Given the description of an element on the screen output the (x, y) to click on. 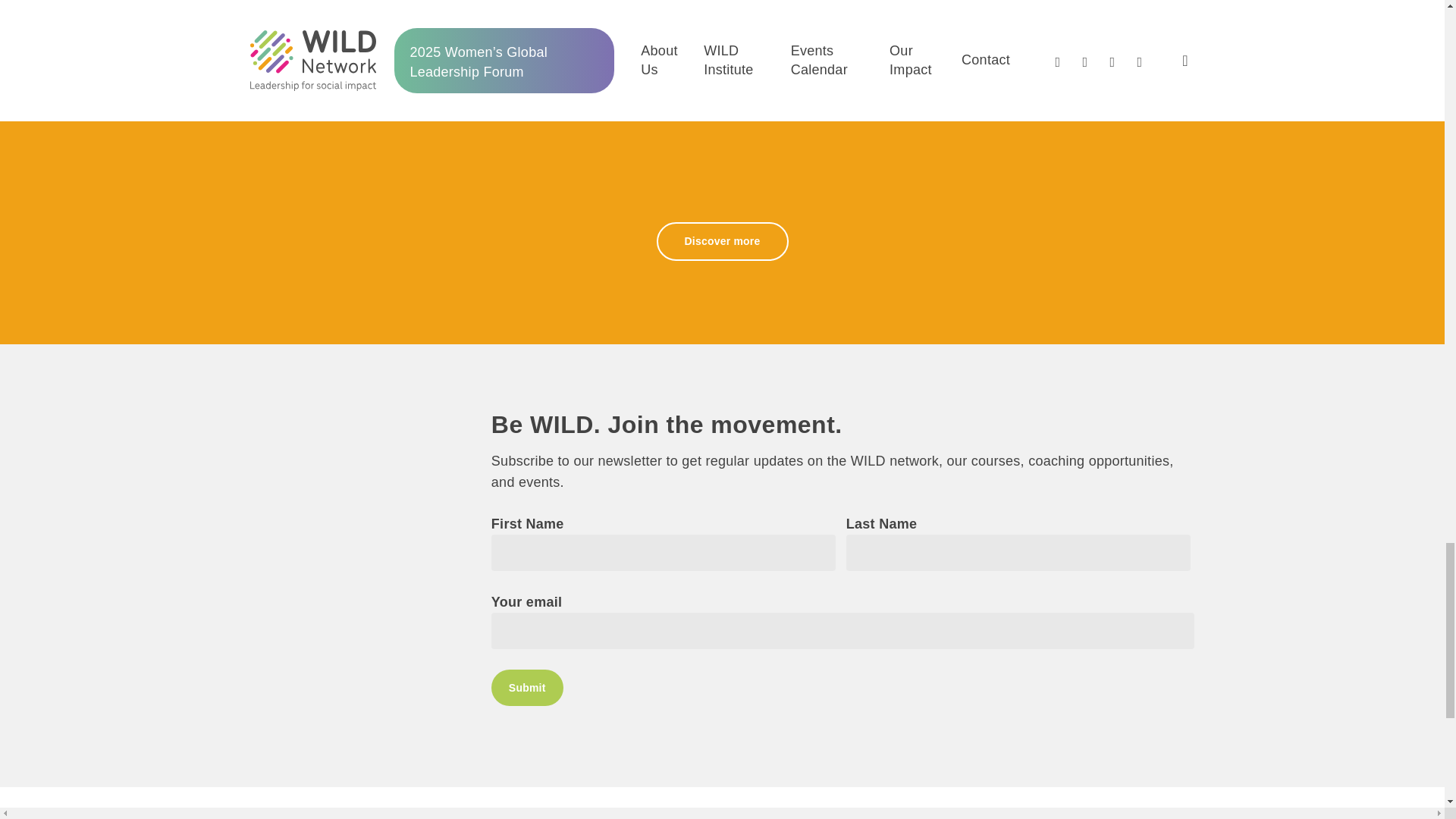
Submit (527, 687)
